Given the description of an element on the screen output the (x, y) to click on. 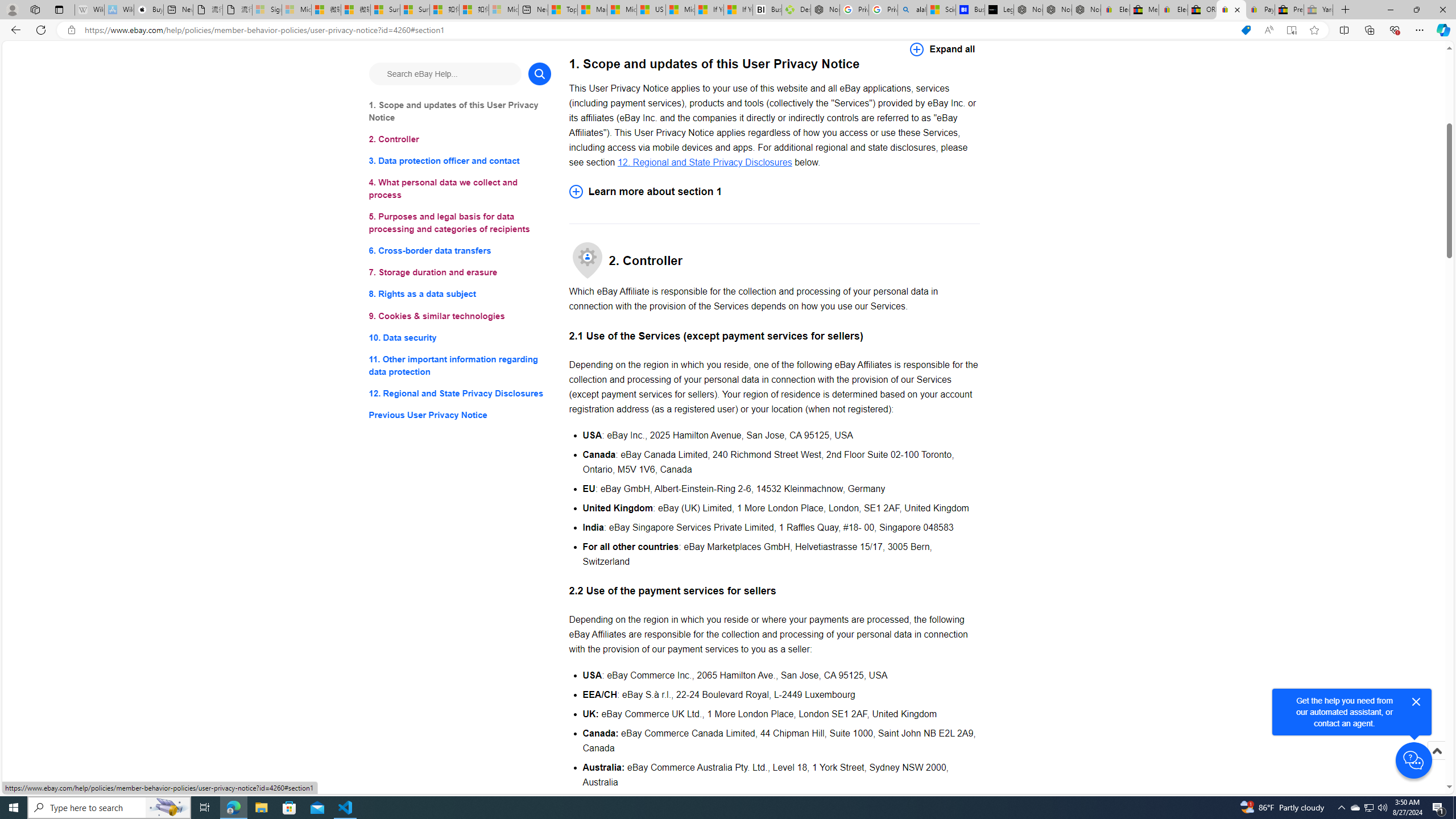
Scroll to top (1435, 762)
9. Cookies & similar technologies (459, 315)
Enter Immersive Reader (F9) (1291, 29)
9. Cookies & similar technologies (459, 315)
